Given the description of an element on the screen output the (x, y) to click on. 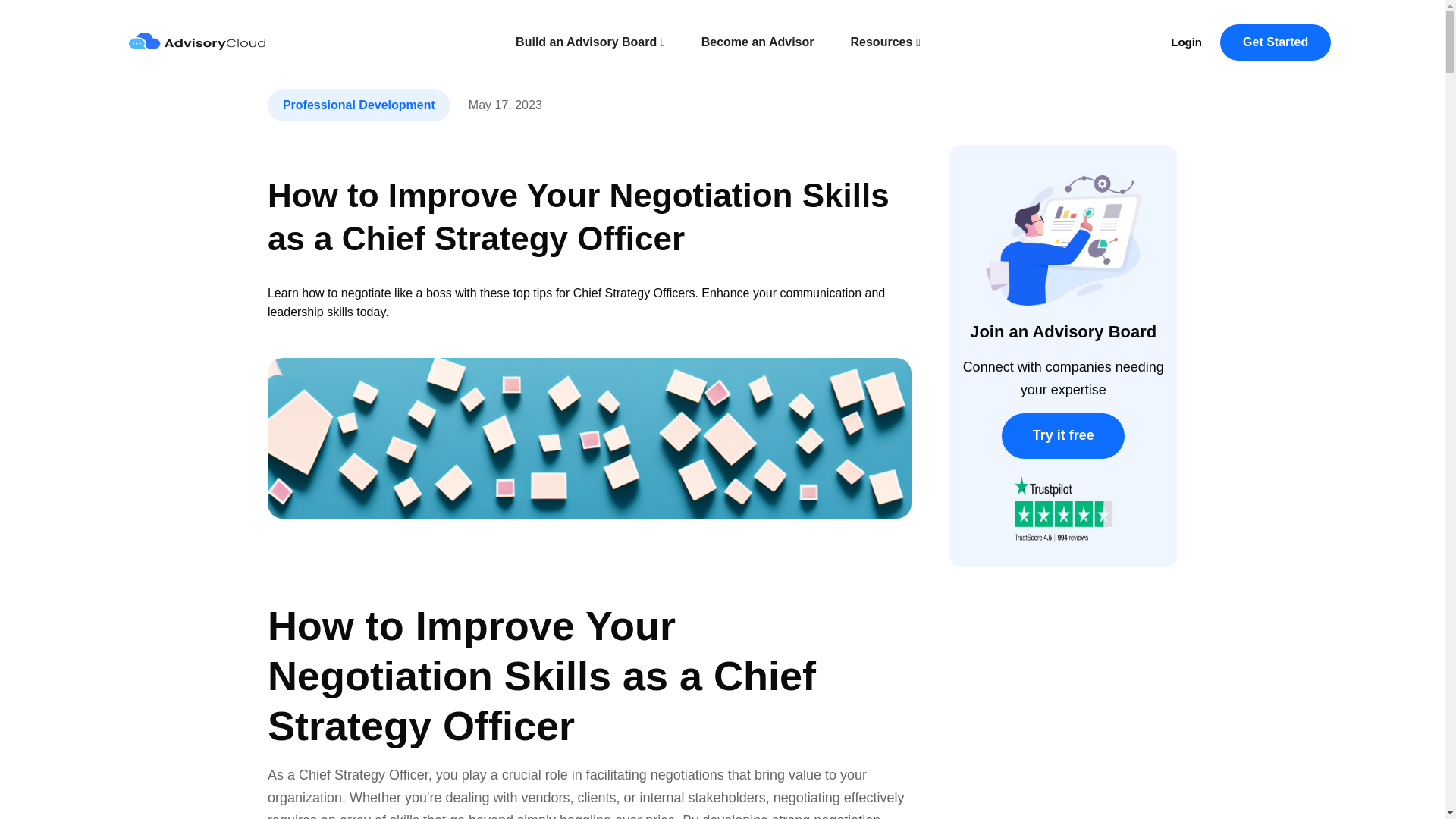
Become an Advisor (757, 42)
